Given the description of an element on the screen output the (x, y) to click on. 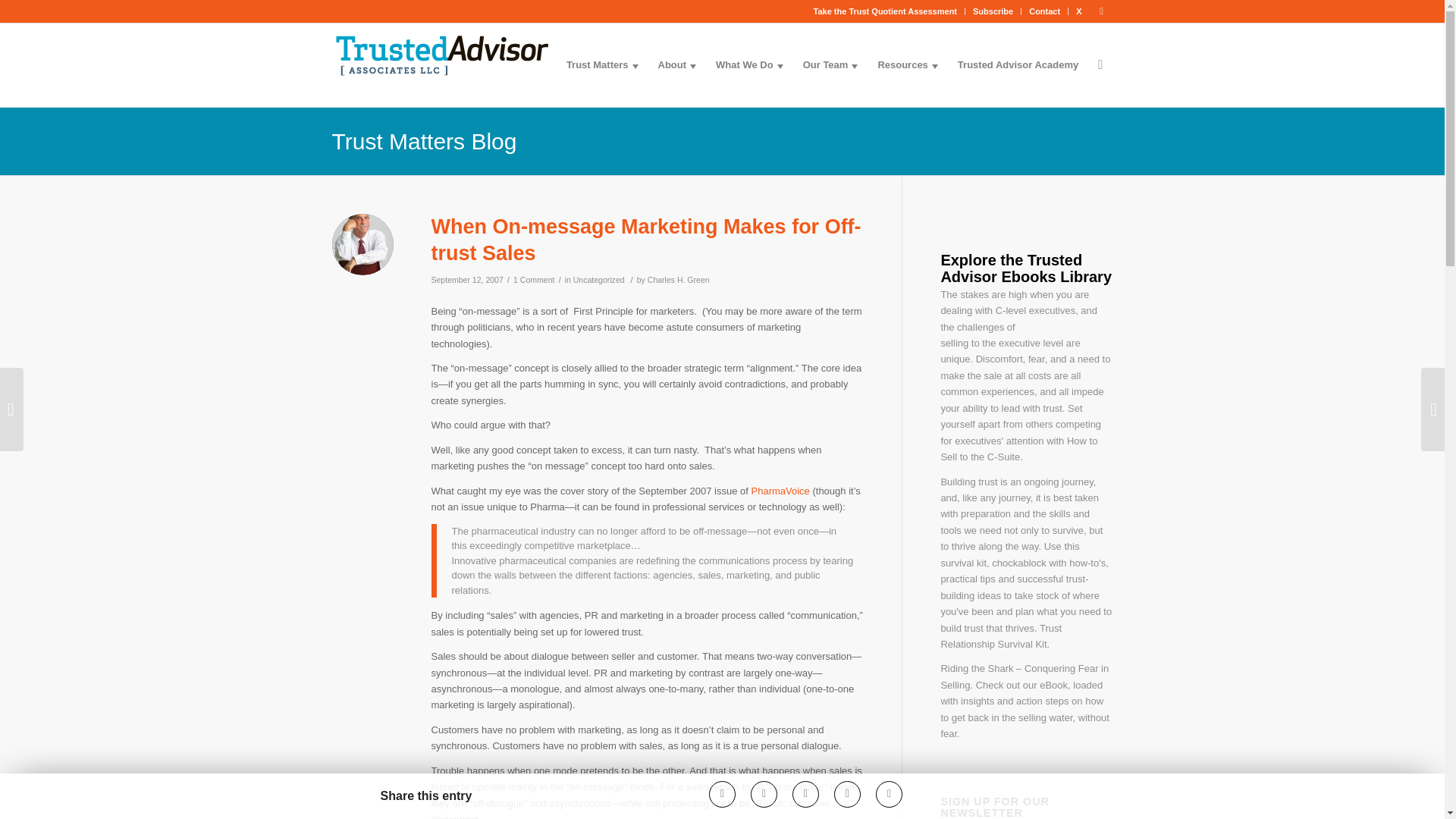
Linkedin (1101, 11)
Take the Trust Quotient Assessment (885, 11)
Posts by Charles H. Green (678, 279)
Permanent Link: Trust Matters Blog (423, 140)
Our Team (830, 65)
Subscribe (992, 11)
Contact (1044, 11)
What We Do (749, 65)
Trust Matters (601, 65)
